Given the description of an element on the screen output the (x, y) to click on. 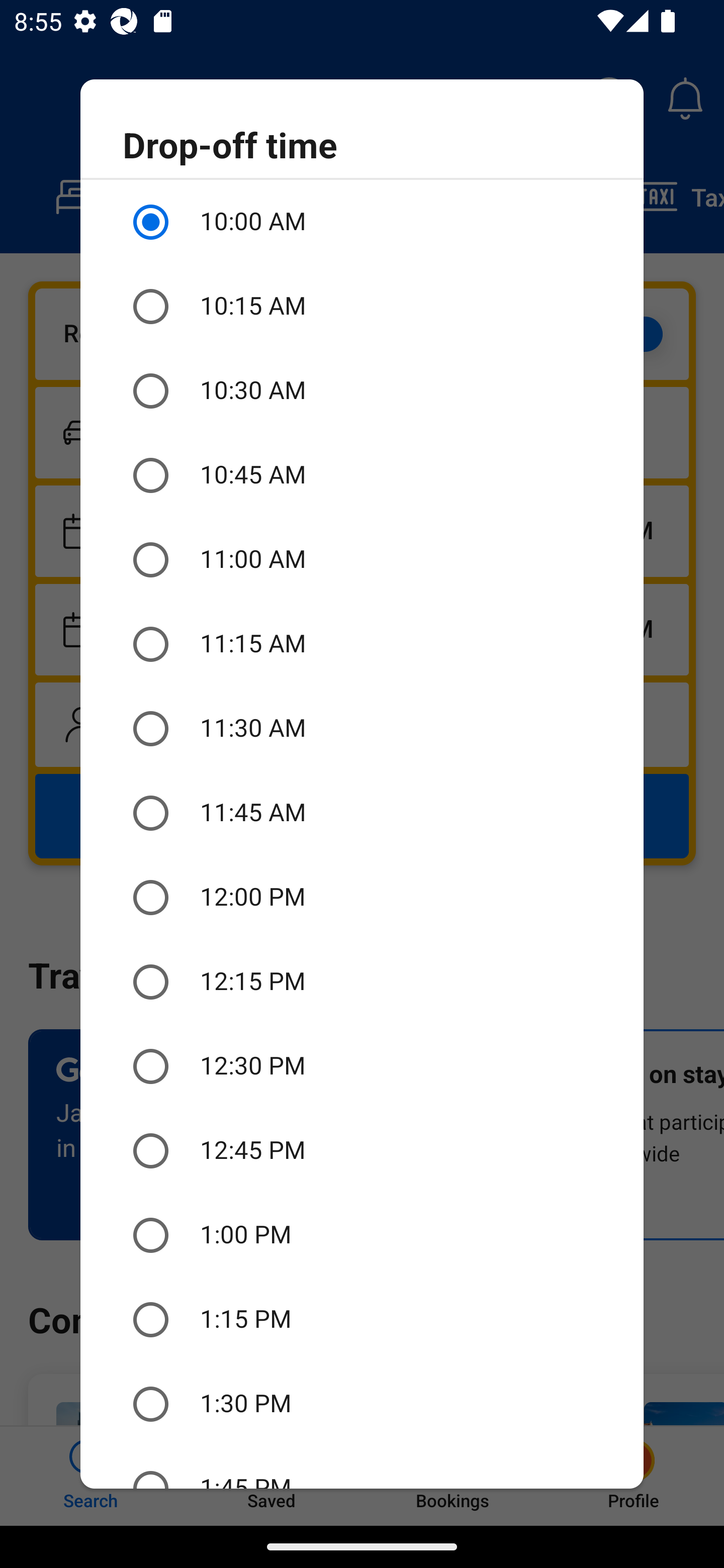
10:00 AM (361, 222)
10:15 AM (361, 306)
10:30 AM (361, 390)
10:45 AM (361, 474)
11:00 AM (361, 559)
11:15 AM (361, 644)
11:30 AM (361, 728)
11:45 AM (361, 813)
12:00 PM (361, 897)
12:15 PM (361, 981)
12:30 PM (361, 1065)
12:45 PM (361, 1150)
1:00 PM (361, 1235)
1:15 PM (361, 1319)
1:30 PM (361, 1403)
